Given the description of an element on the screen output the (x, y) to click on. 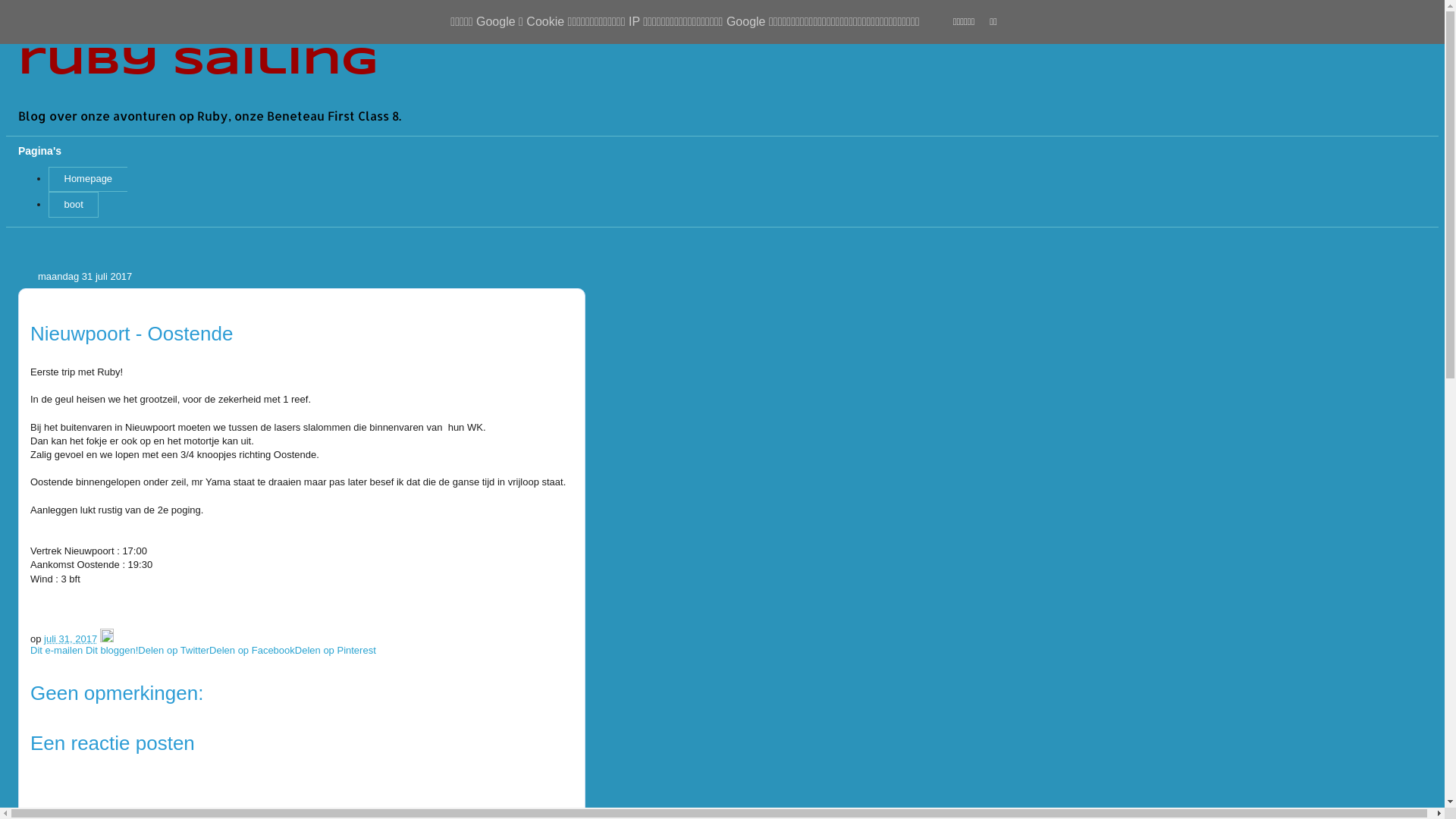
juli 31, 2017 Element type: text (70, 638)
Homepage Element type: text (87, 179)
ruby sailing Element type: text (198, 61)
boot Element type: text (73, 204)
Dit e-mailen Element type: text (57, 649)
Delen op Pinterest Element type: text (335, 649)
Dit bloggen! Element type: text (111, 649)
Post bewerken Element type: hover (106, 638)
Delen op Twitter Element type: text (173, 649)
Delen op Facebook Element type: text (251, 649)
